Given the description of an element on the screen output the (x, y) to click on. 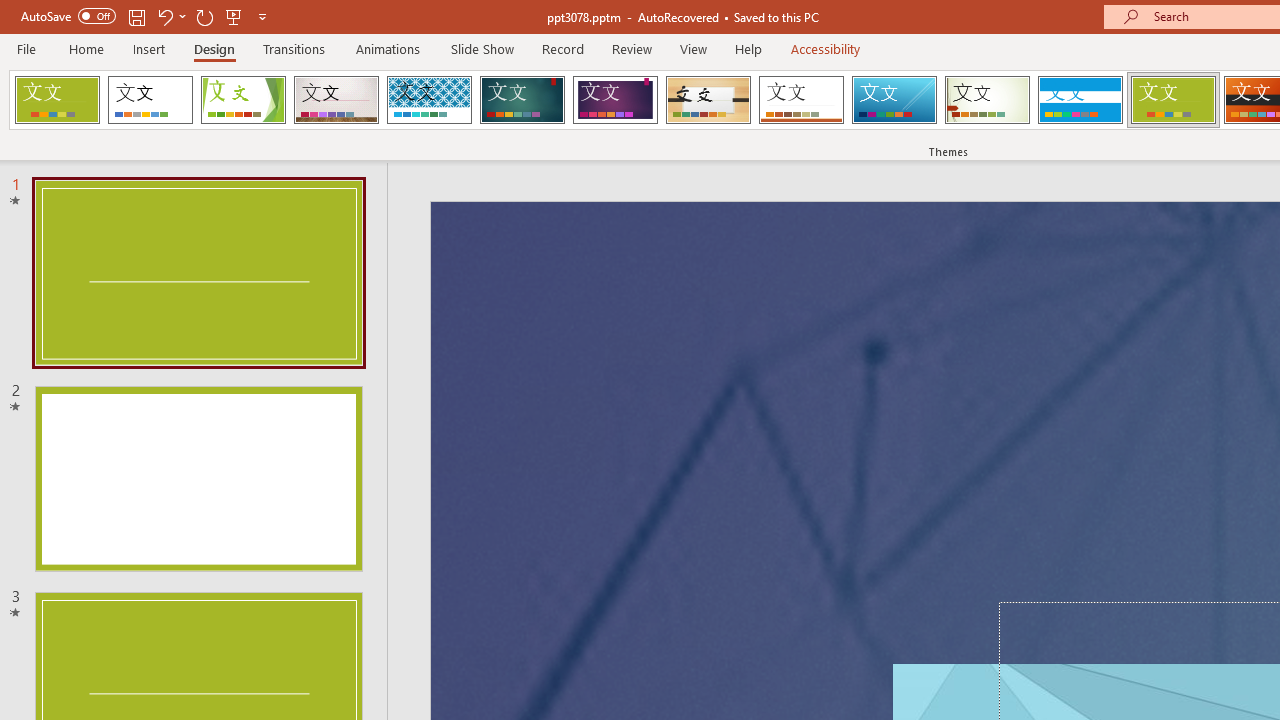
Damask (57, 100)
Gallery (336, 100)
Basis (1172, 100)
Organic (708, 100)
Ion (522, 100)
